Given the description of an element on the screen output the (x, y) to click on. 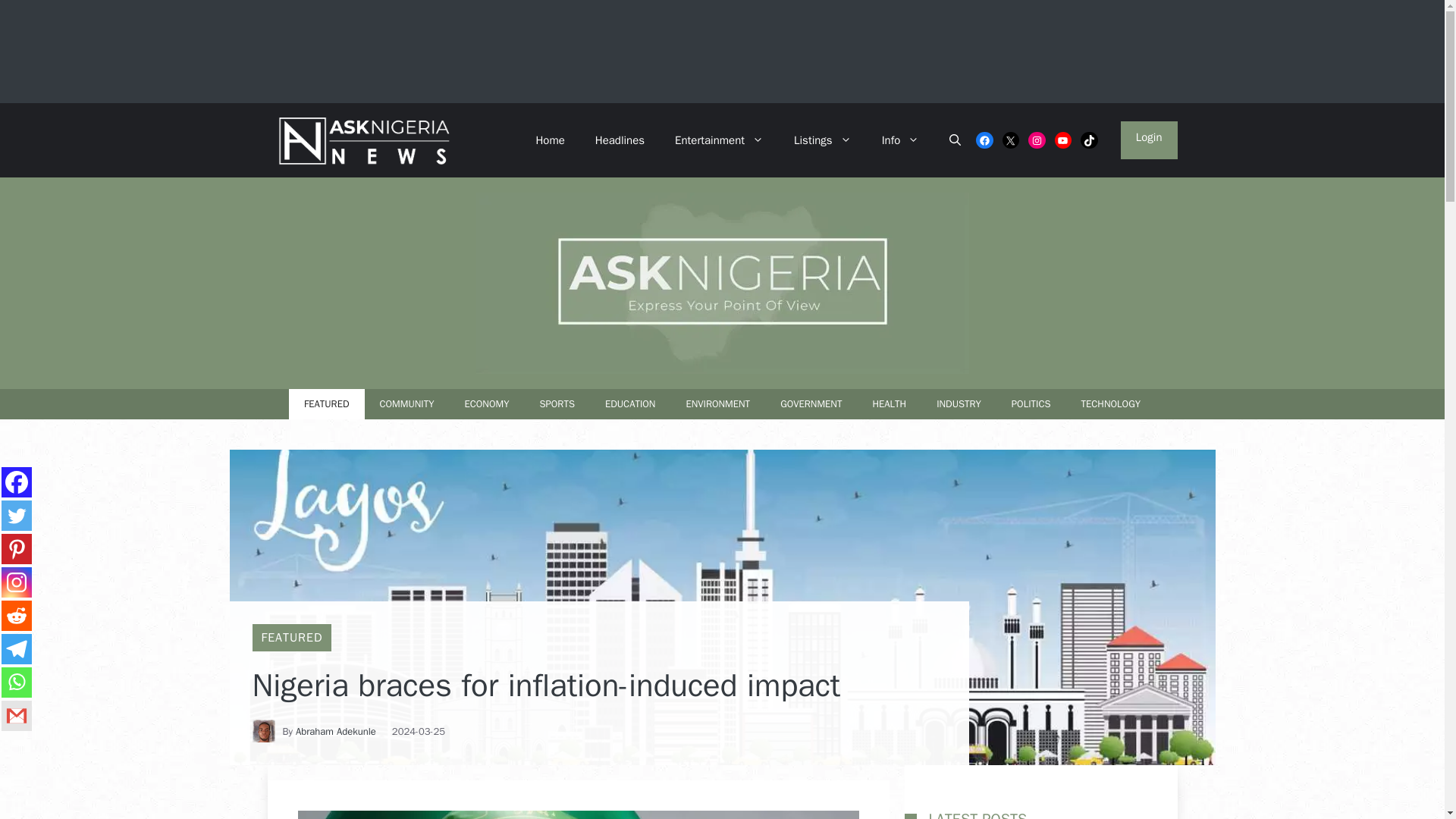
Facebook (983, 140)
Instagram (1036, 140)
Instagram (16, 582)
YouTube (1062, 140)
TikTok (1088, 140)
COMMUNITY (406, 404)
SPORTS (556, 404)
X (1011, 140)
Login (1149, 139)
ENVIRONMENT (717, 404)
Whatsapp (16, 682)
GOVERNMENT (811, 404)
Gmail (16, 716)
POLITICS (1030, 404)
Home (549, 139)
